Given the description of an element on the screen output the (x, y) to click on. 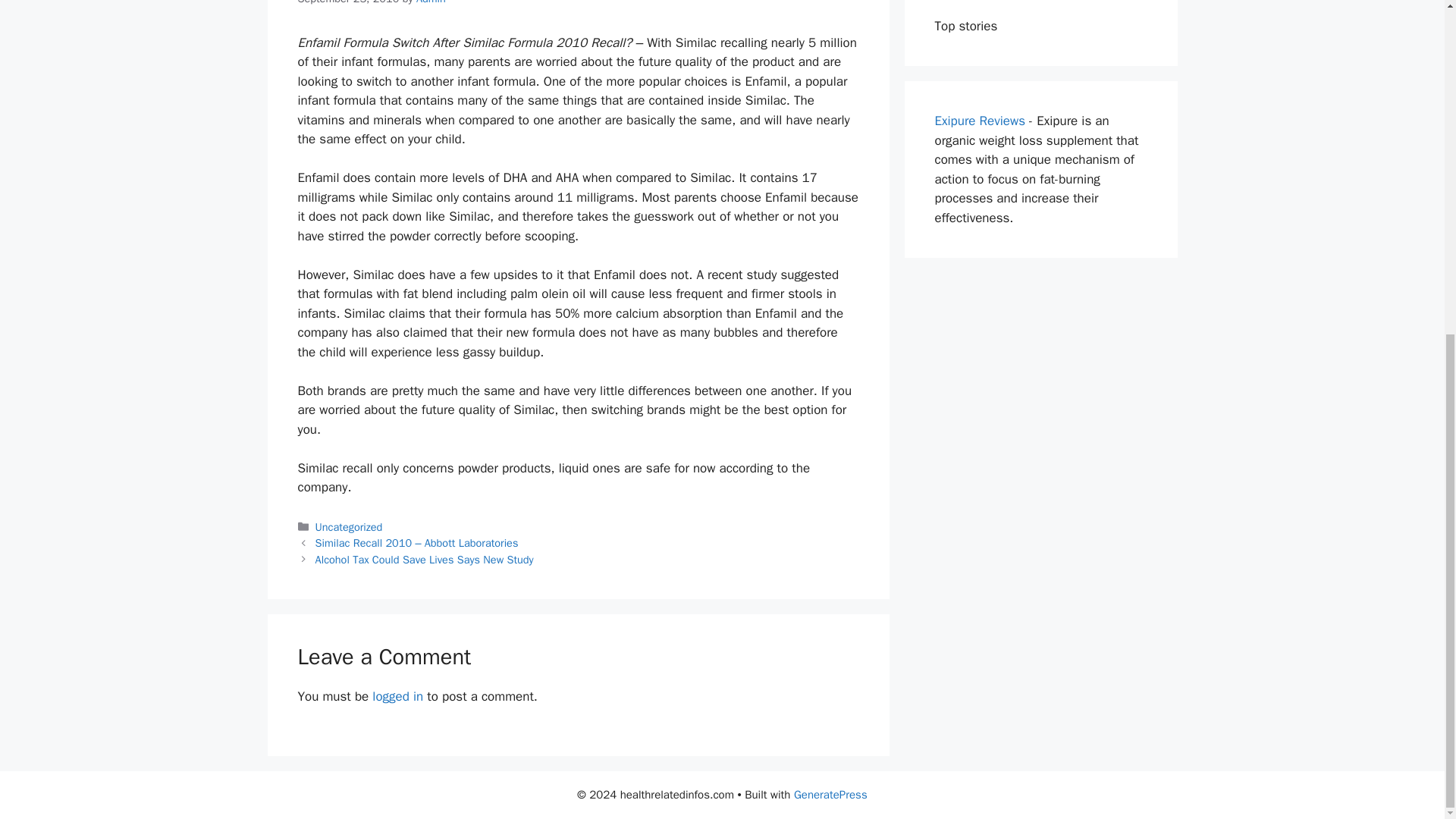
Alcohol Tax Could Save Lives Says New Study (424, 559)
Next (424, 559)
Admin (430, 2)
Exipure Reviews (979, 120)
Previous (416, 542)
logged in (397, 696)
Uncategorized (348, 526)
View all posts by Admin (430, 2)
GeneratePress (830, 794)
